Given the description of an element on the screen output the (x, y) to click on. 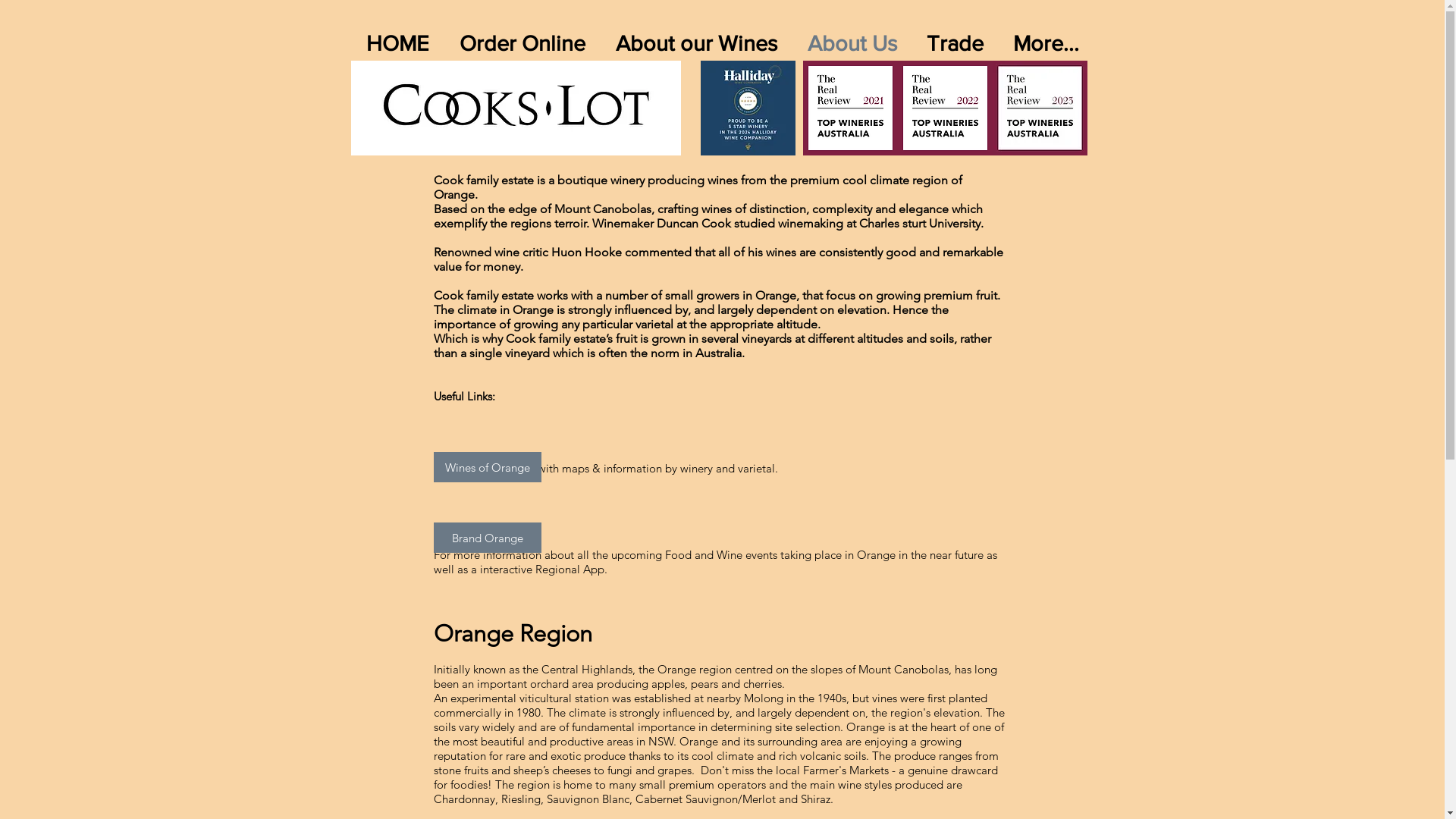
Order Online Element type: text (522, 43)
About our Wines Element type: text (696, 43)
Log In Element type: text (1013, 77)
Brand Orange Element type: text (487, 537)
Wines of Orange Element type: text (487, 466)
Trade Element type: text (954, 43)
HOME Element type: text (396, 43)
About Us Element type: text (851, 43)
